Given the description of an element on the screen output the (x, y) to click on. 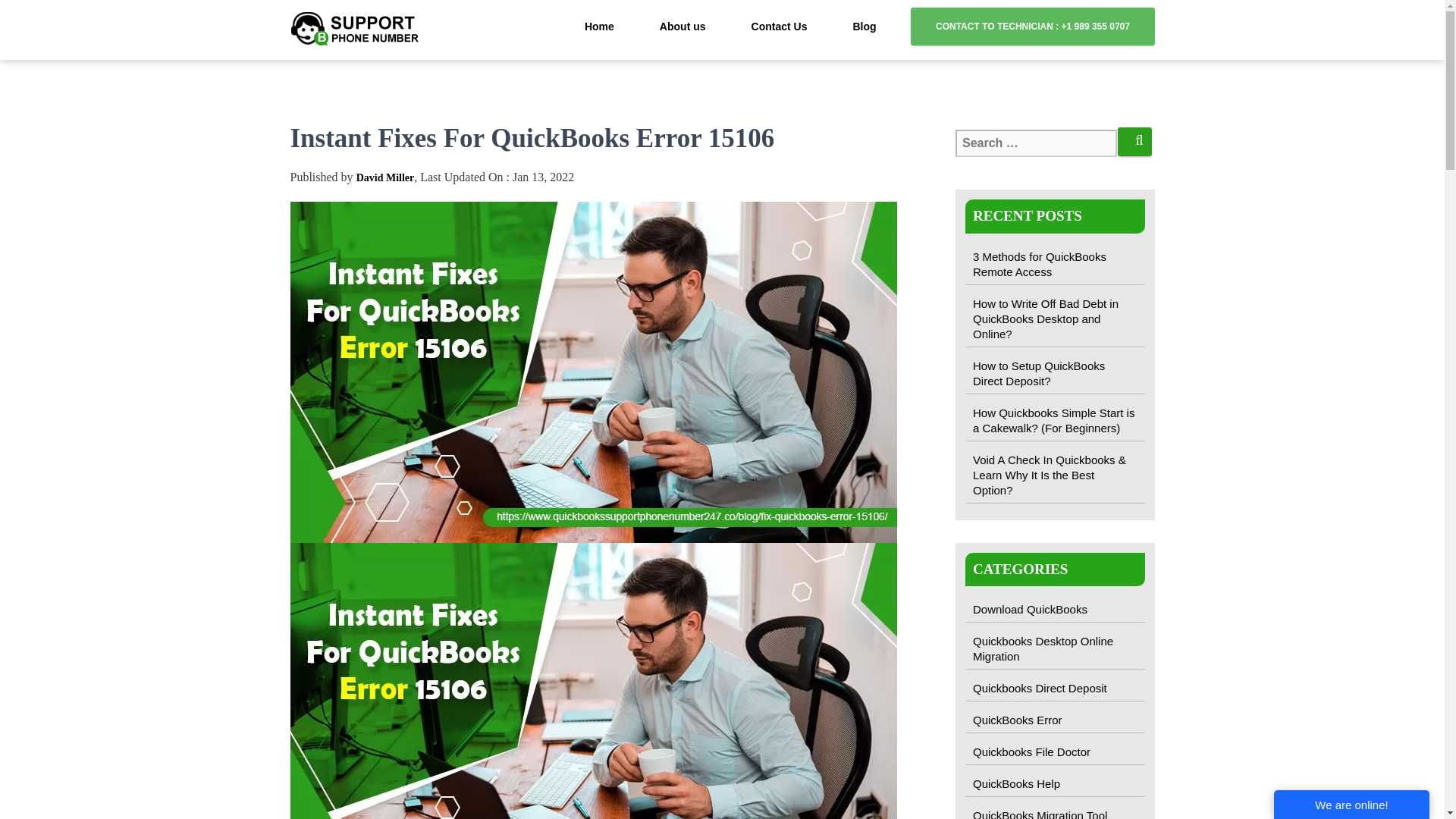
Home (599, 26)
QuickBooks Help (1054, 784)
About us (682, 26)
Download QuickBooks (1054, 609)
Contact Us (778, 26)
3 Methods for QuickBooks Remote Access (1054, 264)
Search (1134, 141)
Quickbooks Desktop Online Migration (1054, 649)
QuickBooks Error (1054, 720)
How to Setup QuickBooks Direct Deposit? (1054, 373)
David Miller (385, 176)
How to Write Off Bad Debt in QuickBooks Desktop and Online? (1054, 319)
Blog (863, 26)
Quickbooks Direct Deposit (1054, 688)
Quickbooks File Doctor (1054, 752)
